Given the description of an element on the screen output the (x, y) to click on. 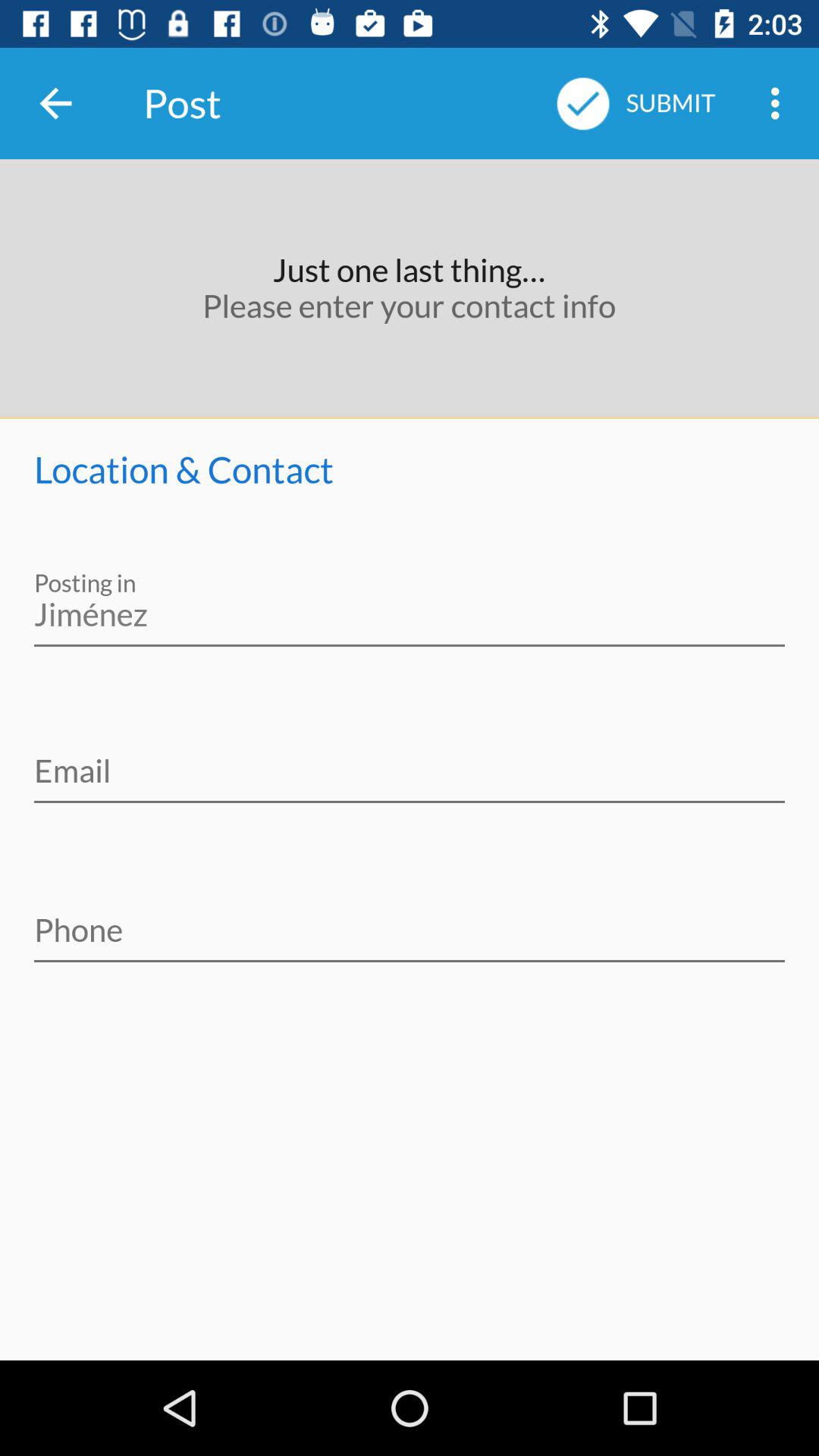
turn off icon to the right of the submit item (779, 103)
